Given the description of an element on the screen output the (x, y) to click on. 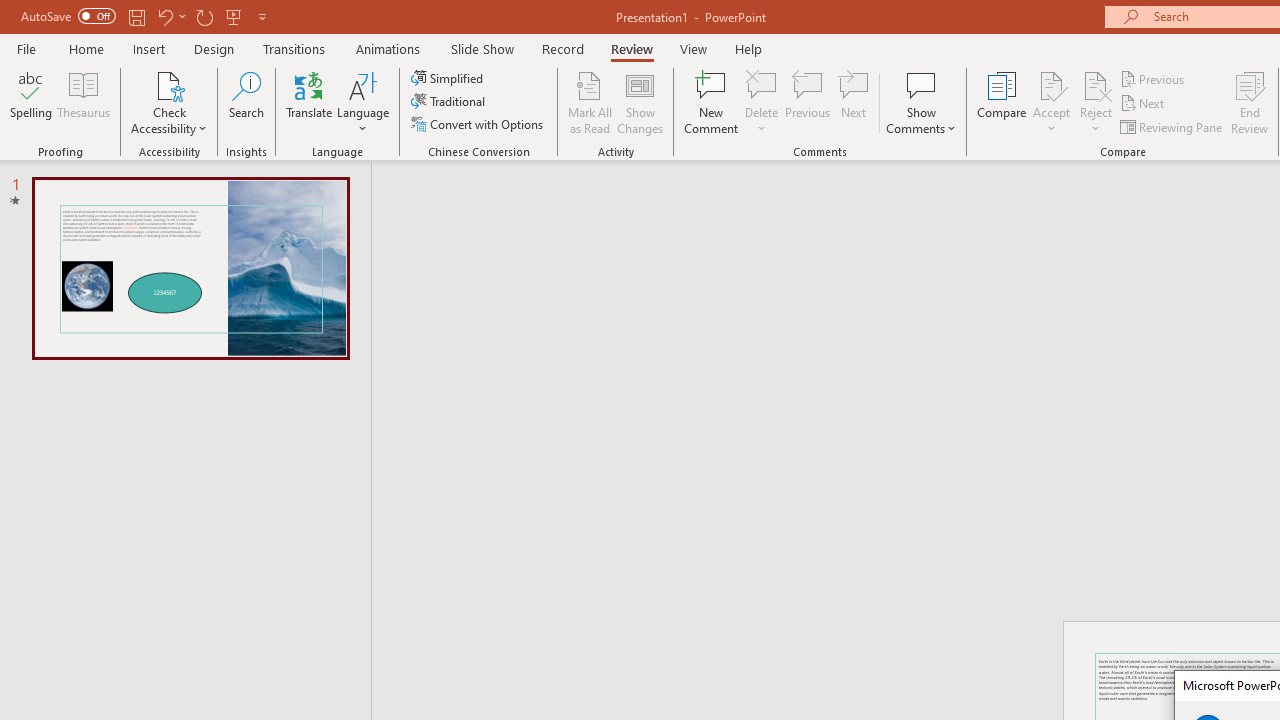
Convert with Options... (479, 124)
Simplified (449, 78)
